Given the description of an element on the screen output the (x, y) to click on. 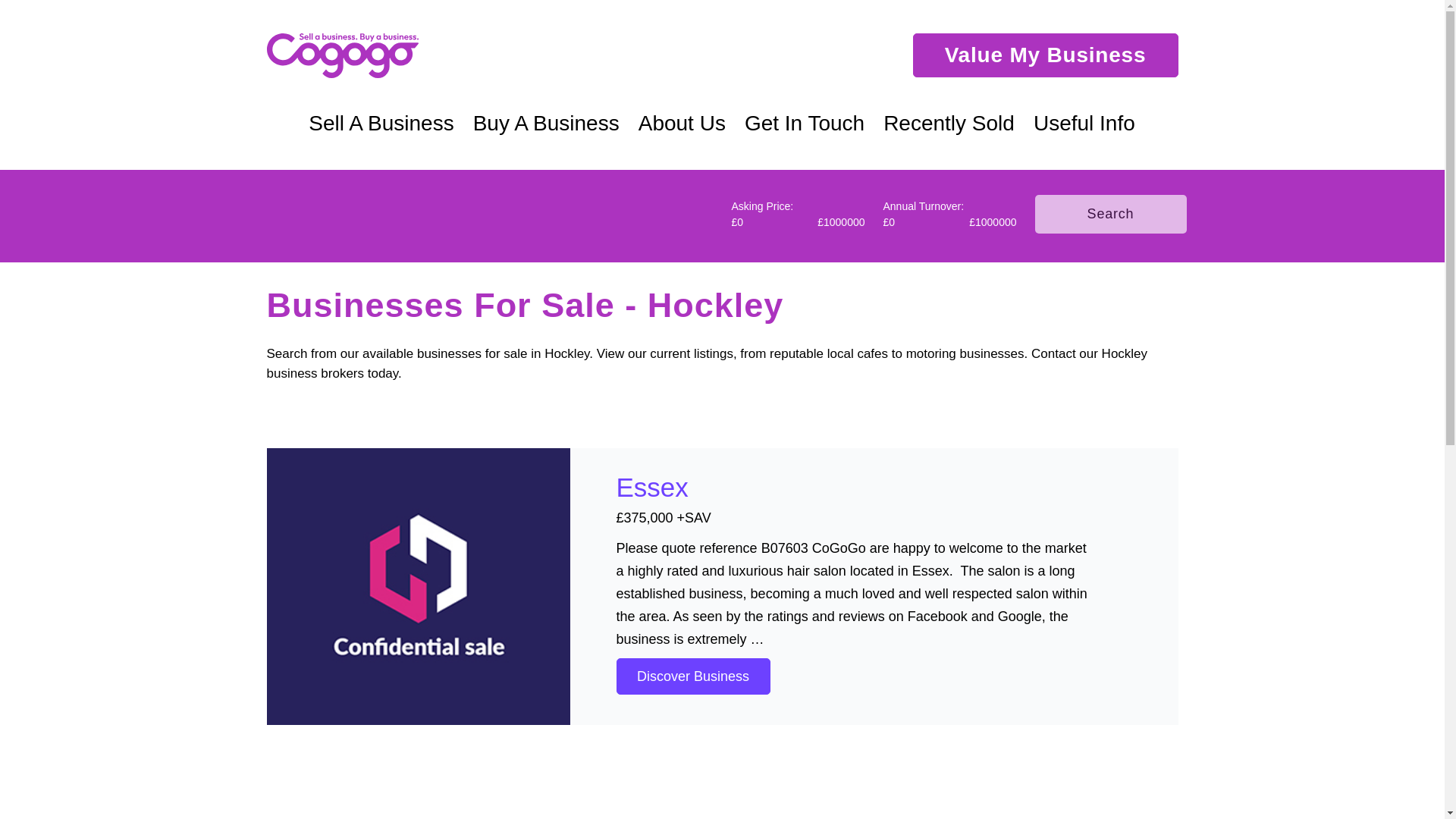
Sell A Business (381, 123)
Buy A Business (546, 123)
Recently Sold (950, 123)
Useful Info (1084, 123)
Get In Touch (805, 123)
Search (1109, 213)
About Us (681, 123)
Value My Business (1044, 54)
Discover Business (693, 676)
